Given the description of an element on the screen output the (x, y) to click on. 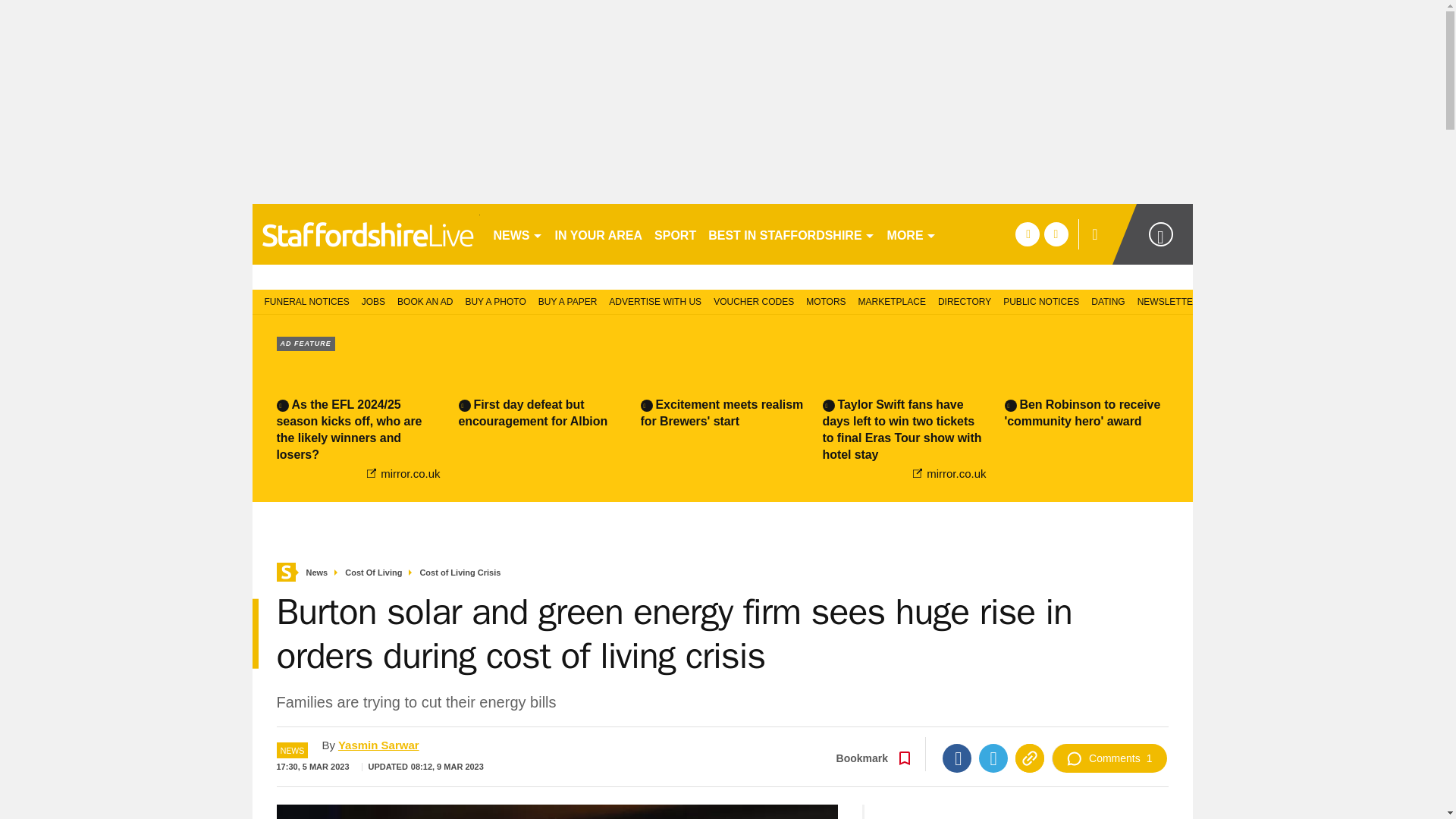
twitter (1055, 233)
NEWS (517, 233)
BUY A PAPER (568, 300)
VOUCHER CODES (753, 300)
Facebook (956, 758)
DIRECTORY (964, 300)
MORE (911, 233)
BOOK AN AD (424, 300)
FUNERAL NOTICES (303, 300)
burtonmail (365, 233)
